Given the description of an element on the screen output the (x, y) to click on. 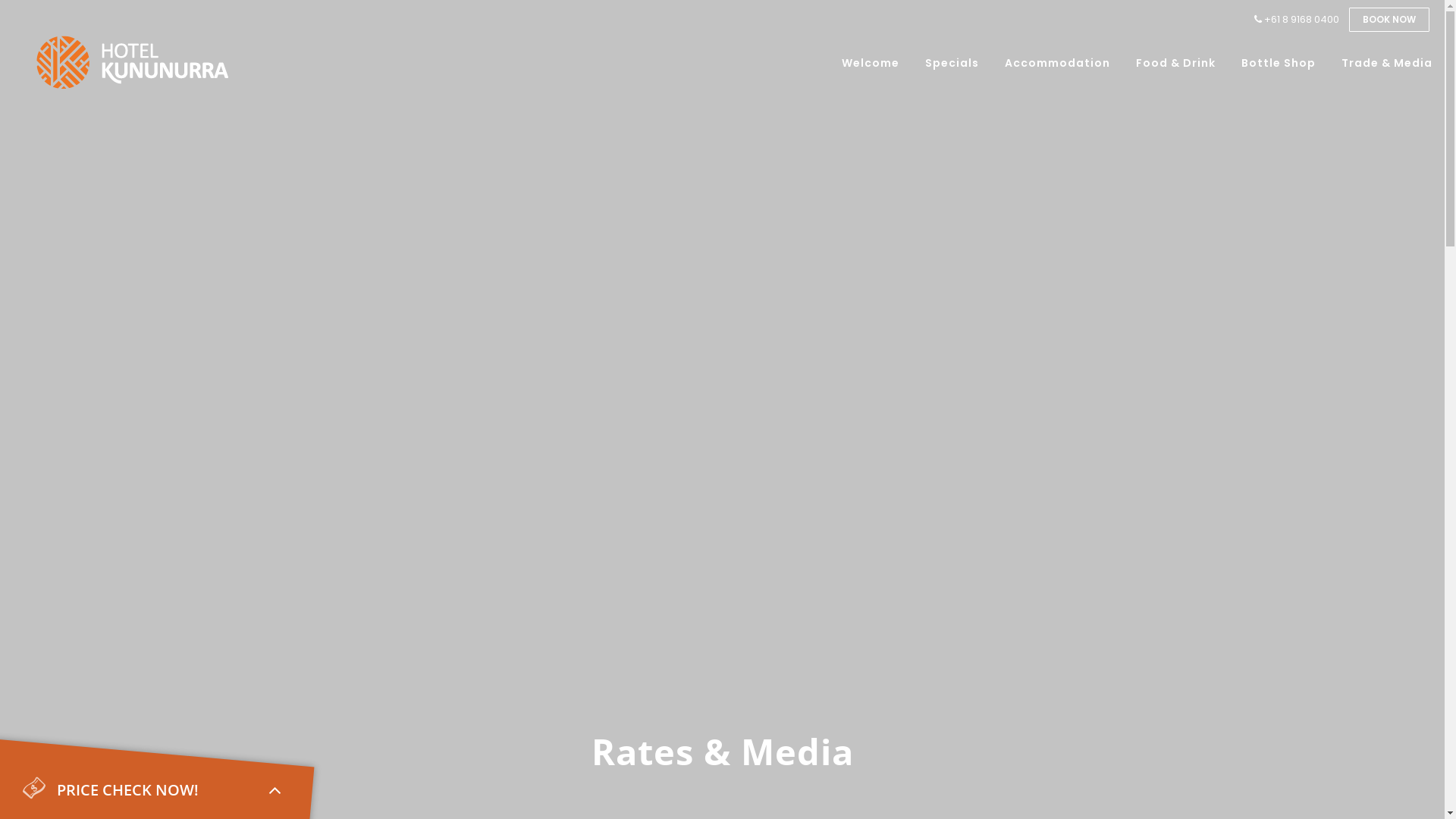
BOOK NOW Element type: text (1389, 19)
Trade & Media Element type: text (1386, 62)
Food & Drink Element type: text (1175, 62)
Accommodation Element type: text (1057, 62)
Bottle Shop Element type: text (1278, 62)
Welcome Element type: text (870, 62)
Specials Element type: text (951, 62)
